Given the description of an element on the screen output the (x, y) to click on. 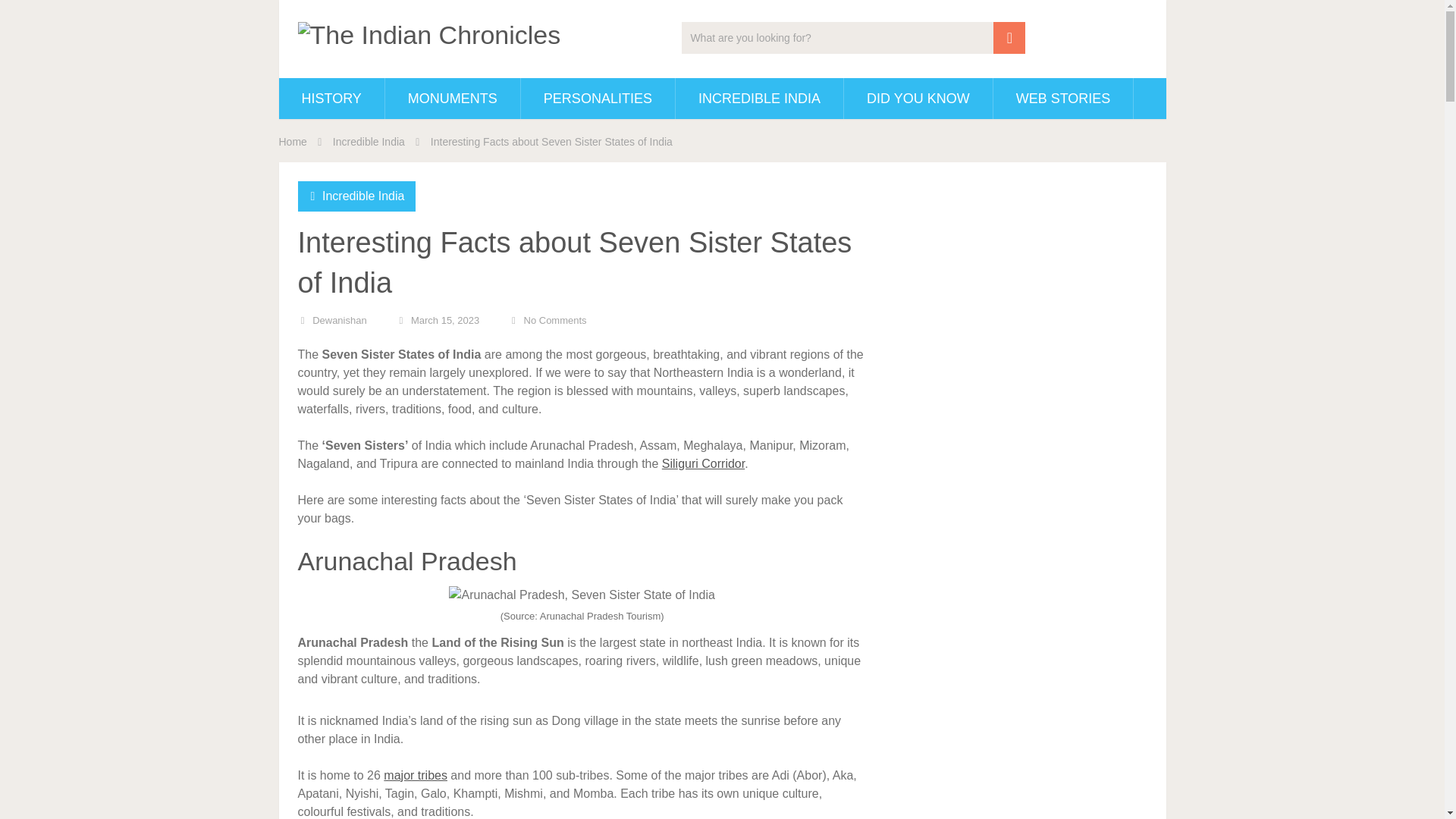
HISTORY (331, 97)
INCREDIBLE INDIA (759, 97)
Incredible India (368, 141)
Incredible India (362, 195)
No Comments (555, 319)
MONUMENTS (452, 97)
Home (293, 141)
PERSONALITIES (598, 97)
major tribes (413, 775)
Dewanishan (339, 319)
Posts by dewanishan (339, 319)
DID YOU KNOW (918, 97)
Siliguri Corridor (703, 463)
What are you looking for? (853, 38)
WEB STORIES (1063, 97)
